Given the description of an element on the screen output the (x, y) to click on. 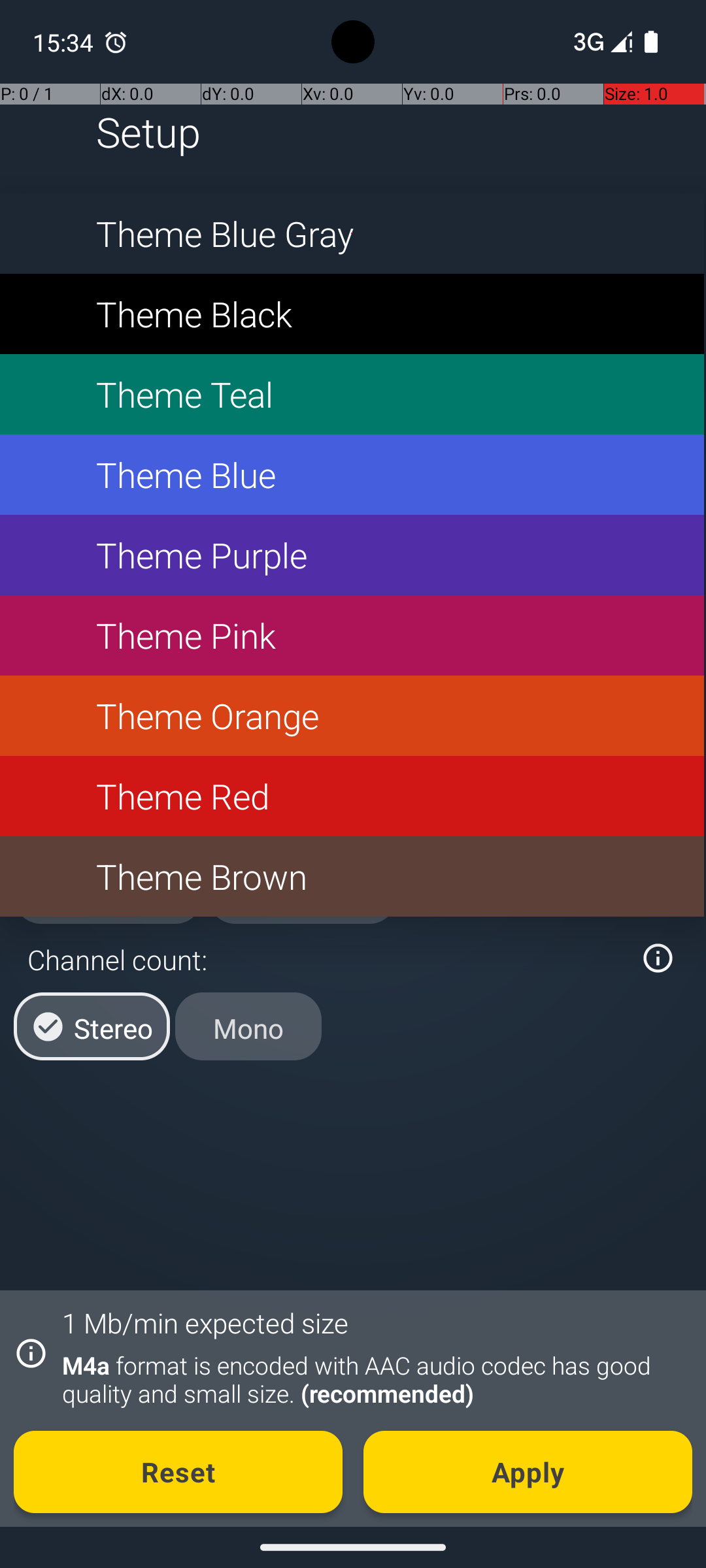
Theme Black Element type: android.widget.TextView (352, 313)
Theme Pink Element type: android.widget.TextView (352, 635)
Theme Orange Element type: android.widget.TextView (352, 715)
Clock notification: Missed alarm Element type: android.widget.ImageView (115, 41)
